Given the description of an element on the screen output the (x, y) to click on. 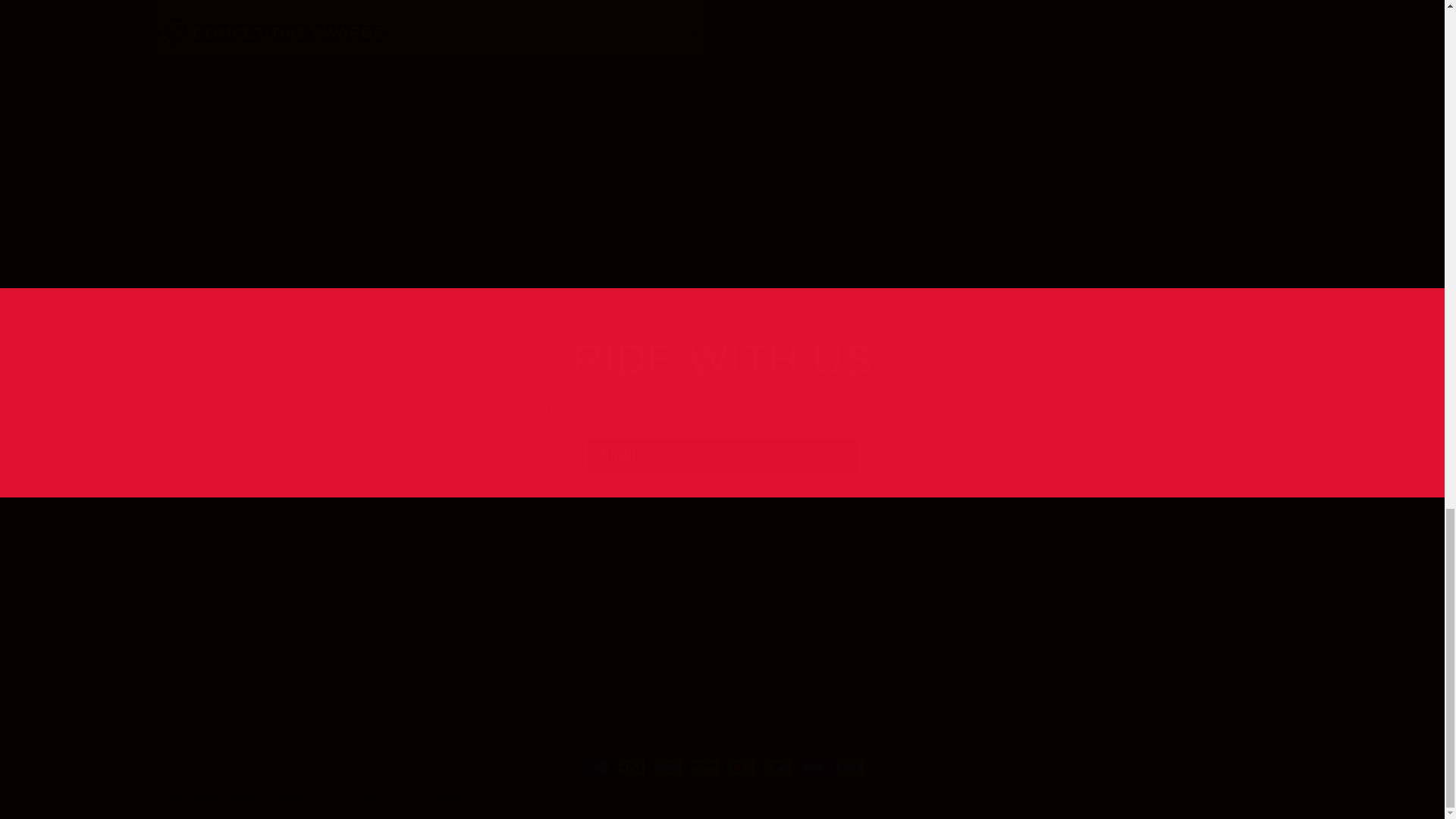
Email (722, 455)
RIDE WITH US (721, 358)
